Given the description of an element on the screen output the (x, y) to click on. 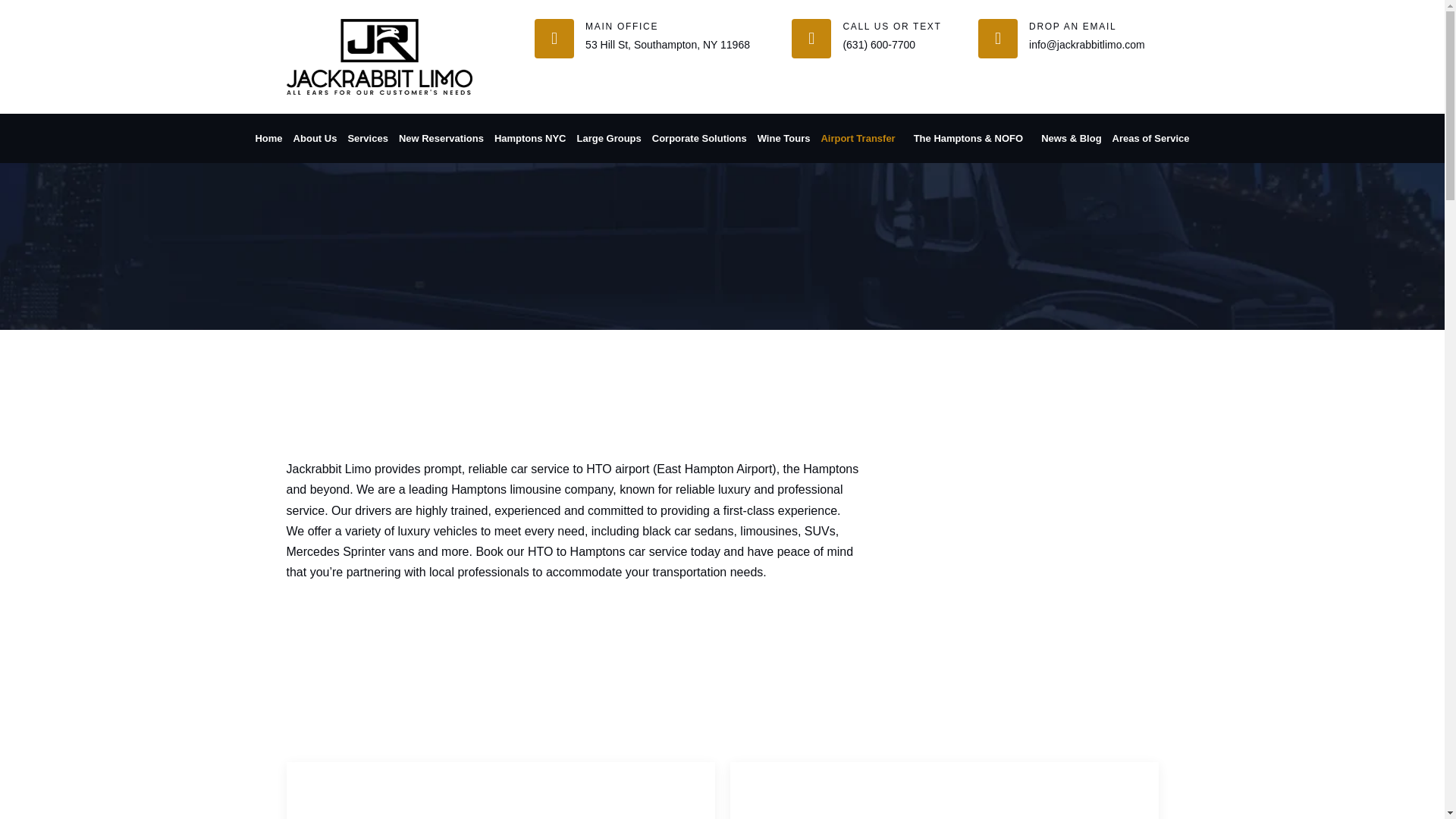
MAIN OFFICE (621, 26)
CALL US OR TEXT (891, 26)
About Us (315, 138)
Airport Transfer (861, 138)
DROP AN EMAIL (1072, 26)
Wine Tours (783, 138)
Large Groups (609, 138)
New Reservations (440, 138)
Corporate Solutions (699, 138)
Hamptons NYC (530, 138)
